Given the description of an element on the screen output the (x, y) to click on. 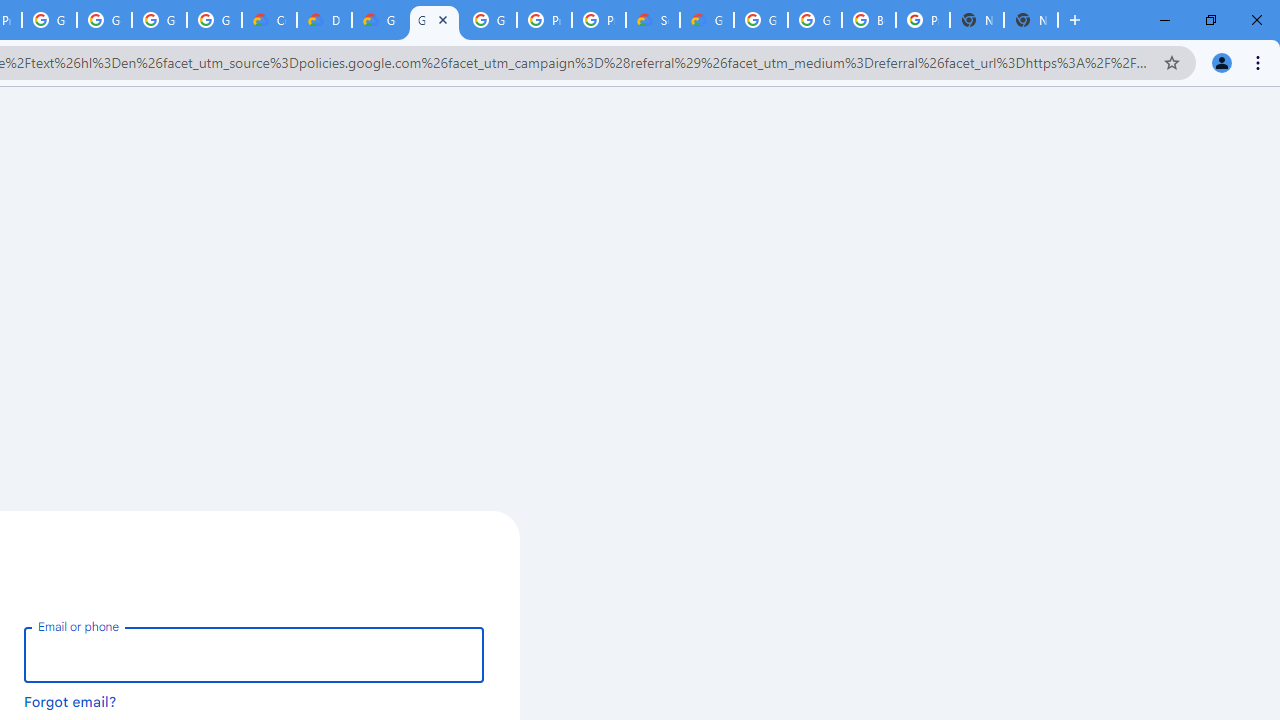
Forgot email? (70, 701)
Email or phone (253, 654)
Gemini for Business and Developers | Google Cloud (379, 20)
Google Workspace - Specific Terms (213, 20)
Google Cloud Platform (434, 20)
Support Hub | Google Cloud (652, 20)
Google Cloud Service Health (706, 20)
